Given the description of an element on the screen output the (x, y) to click on. 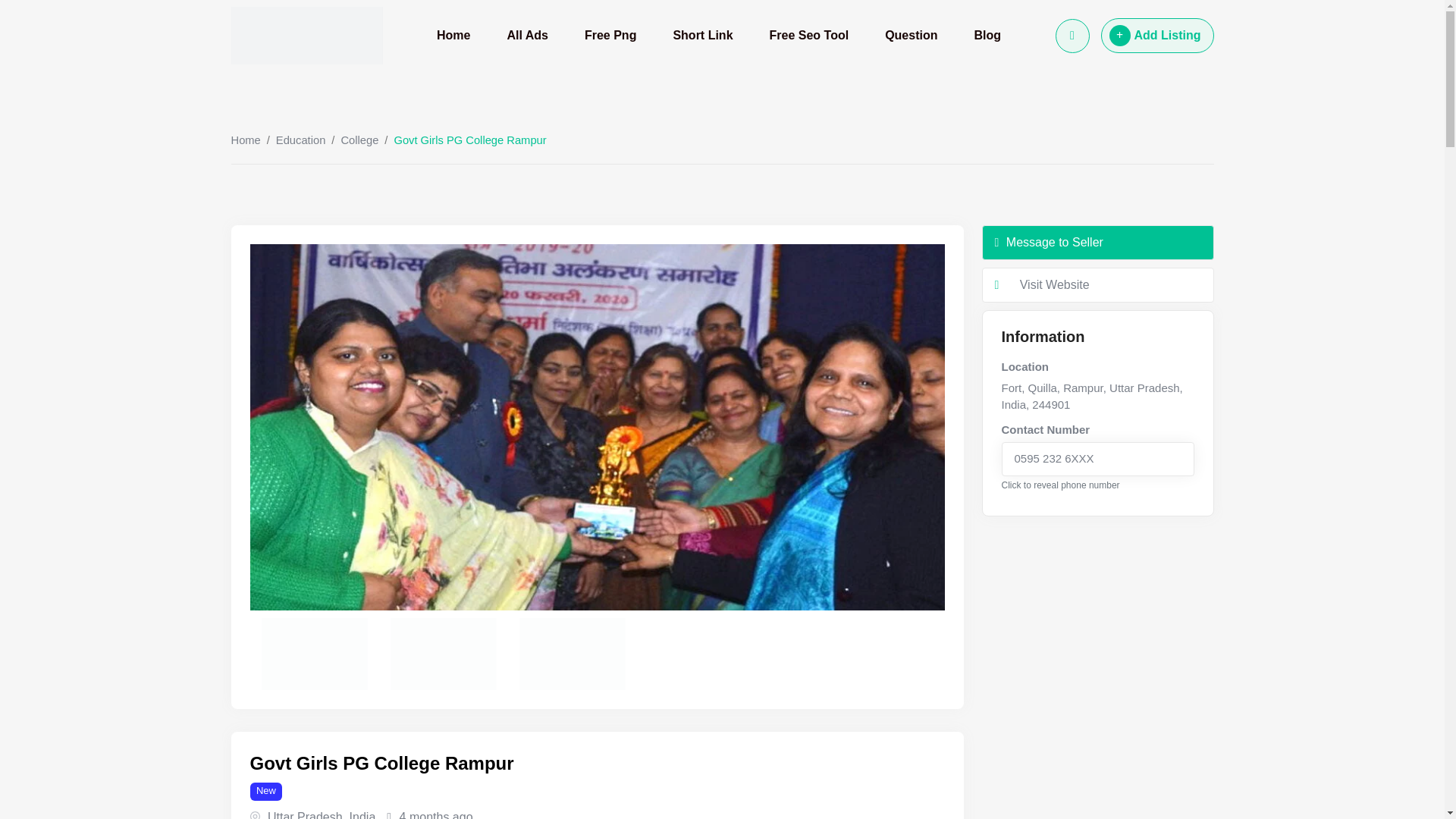
Short Link (702, 35)
Blog (987, 35)
Home (245, 140)
India (362, 814)
All Ads (526, 35)
Question (910, 35)
Education (300, 140)
Free Png (609, 35)
Free Seo Tool (809, 35)
Home (453, 35)
College (359, 140)
Add Listing (1157, 35)
Uttar Pradesh (304, 814)
